Given the description of an element on the screen output the (x, y) to click on. 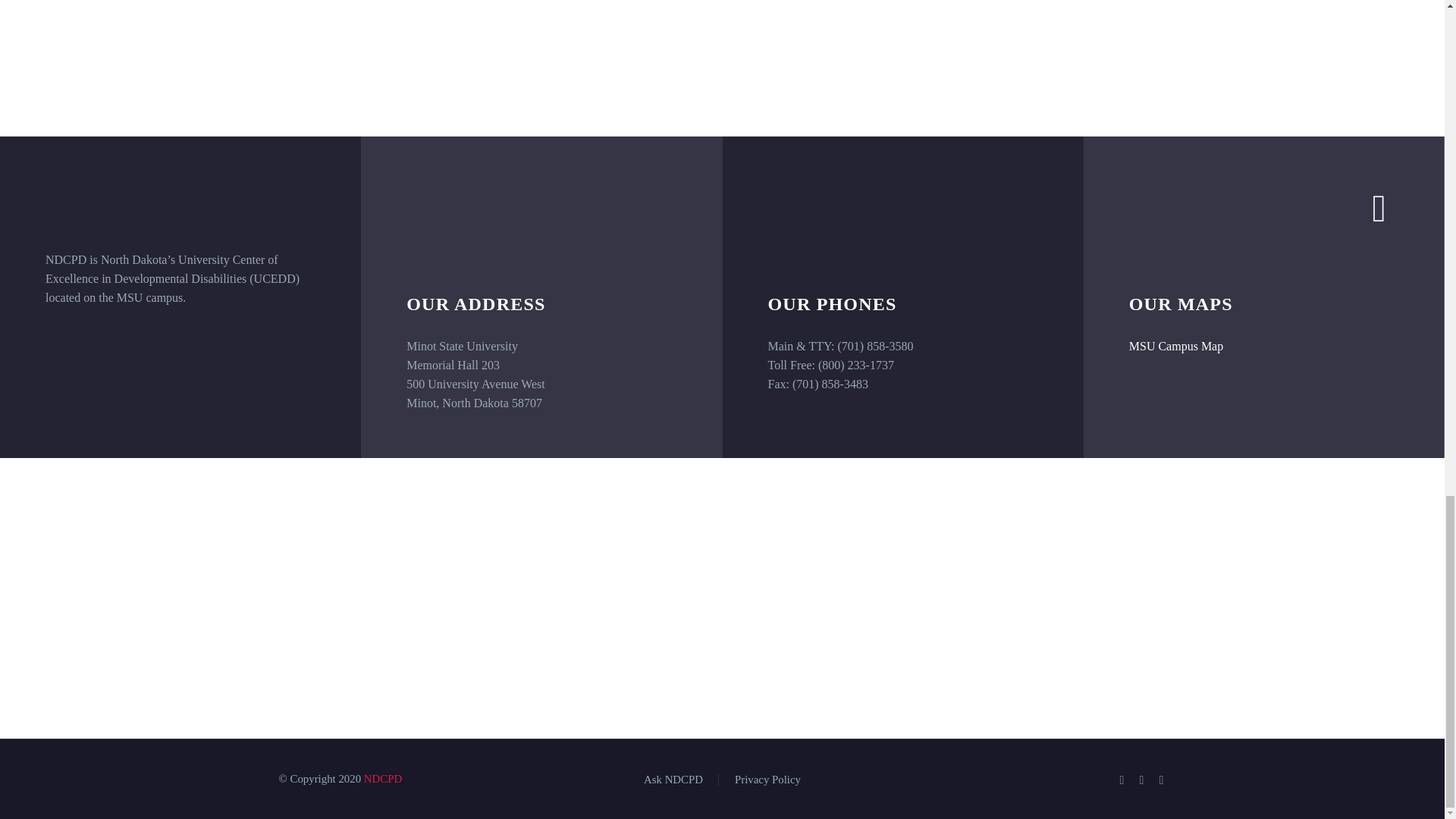
YouTube (1161, 779)
Facebook (1122, 779)
Twitter (1141, 779)
